Given the description of an element on the screen output the (x, y) to click on. 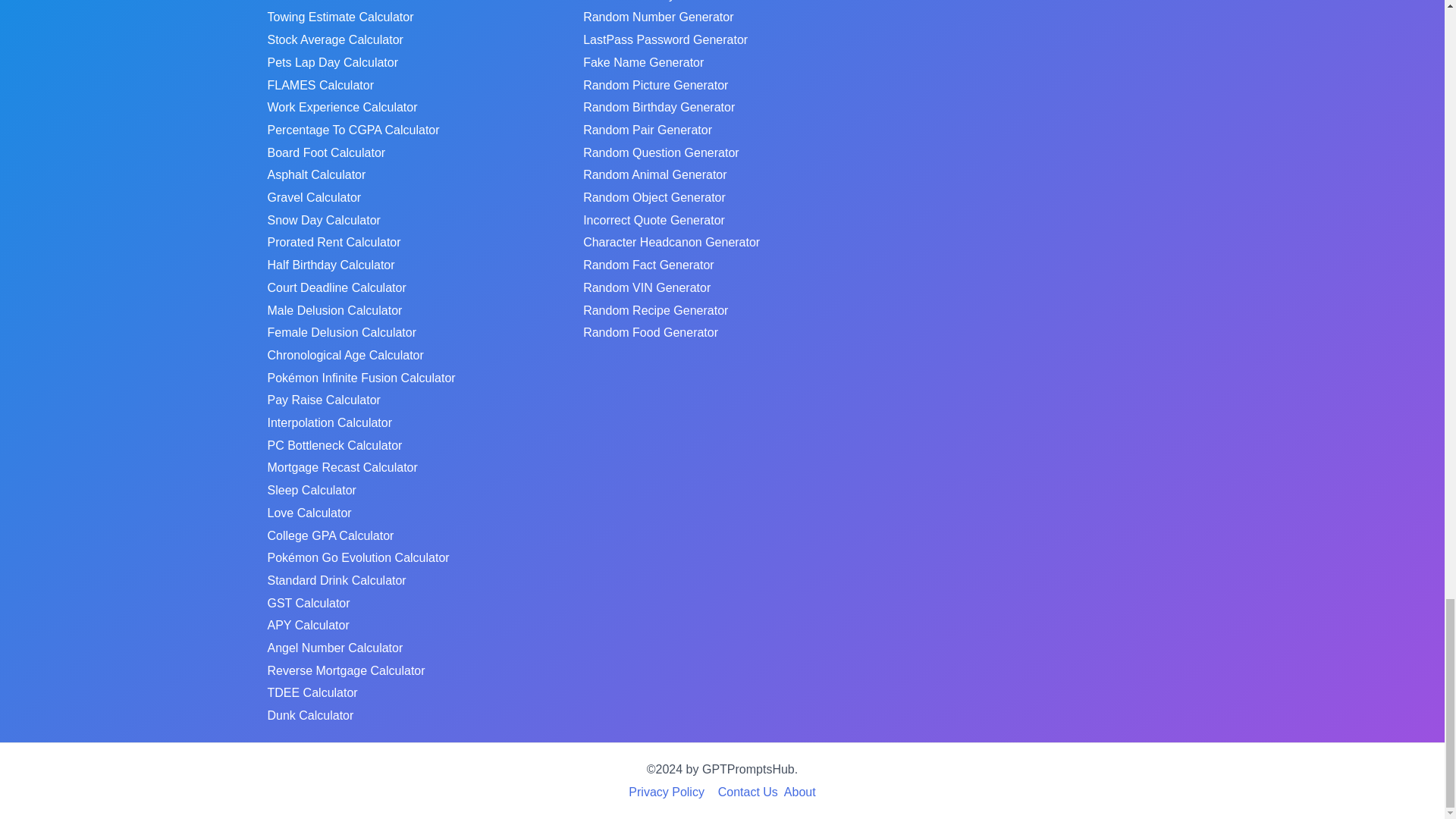
VIT CGPA Calculator (323, 3)
Stock Average Calculator (334, 39)
Towing Estimate Calculator (339, 16)
